Given the description of an element on the screen output the (x, y) to click on. 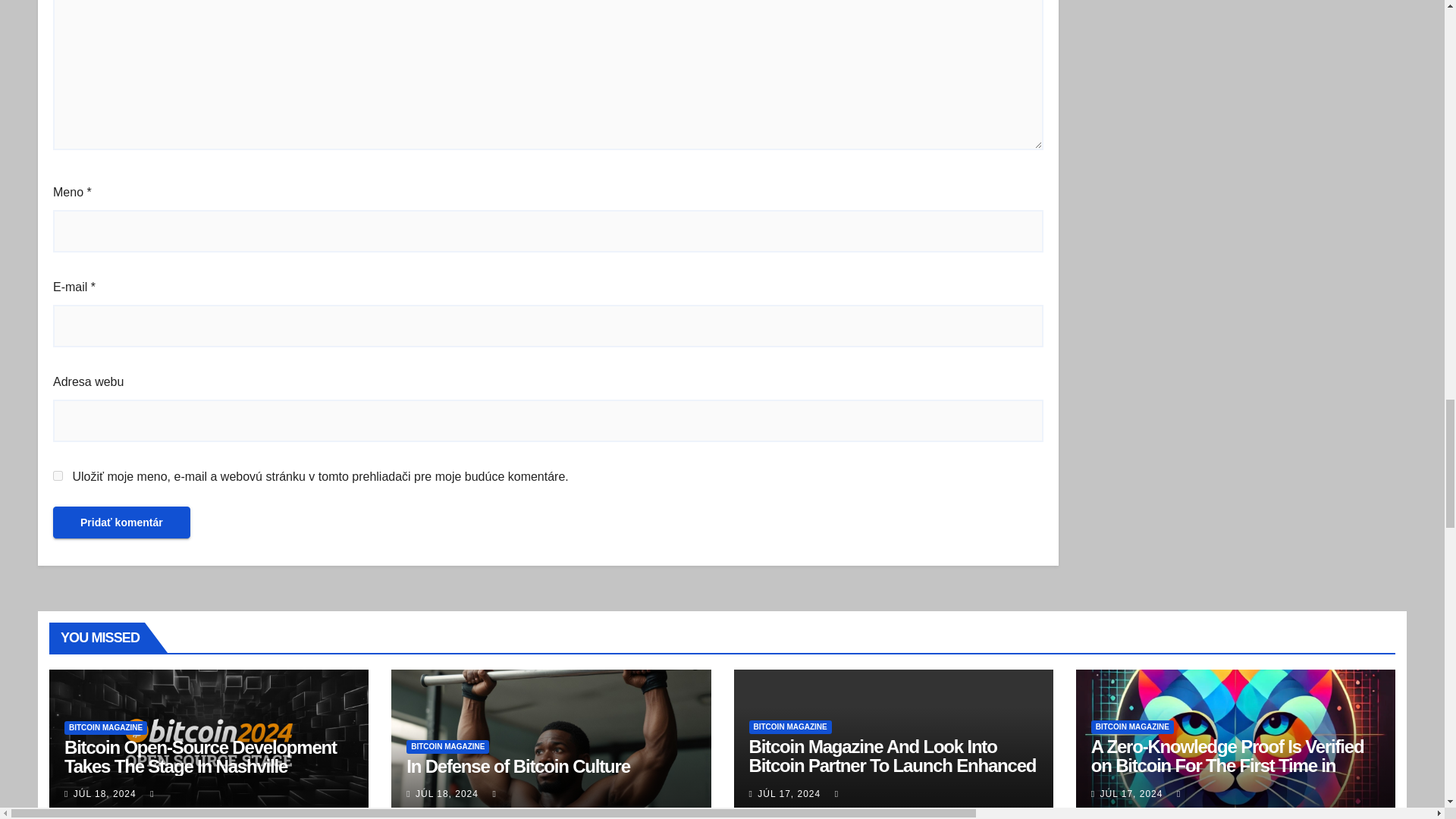
Permalink to: In Defense of Bitcoin Culture (518, 765)
yes (57, 475)
